Given the description of an element on the screen output the (x, y) to click on. 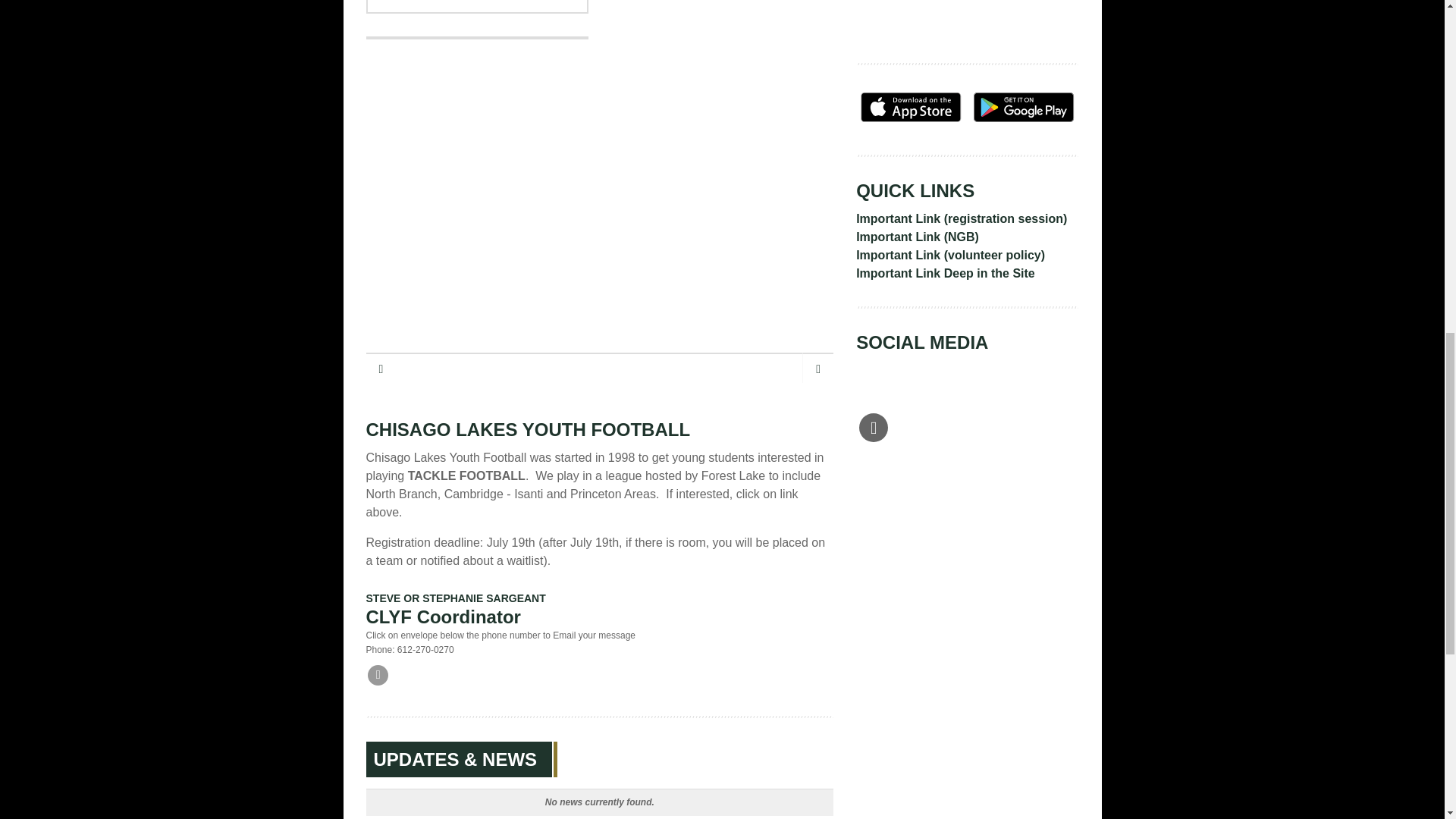
External Link (873, 427)
Important Link (898, 236)
Important Link Deep in the Site (945, 273)
